Given the description of an element on the screen output the (x, y) to click on. 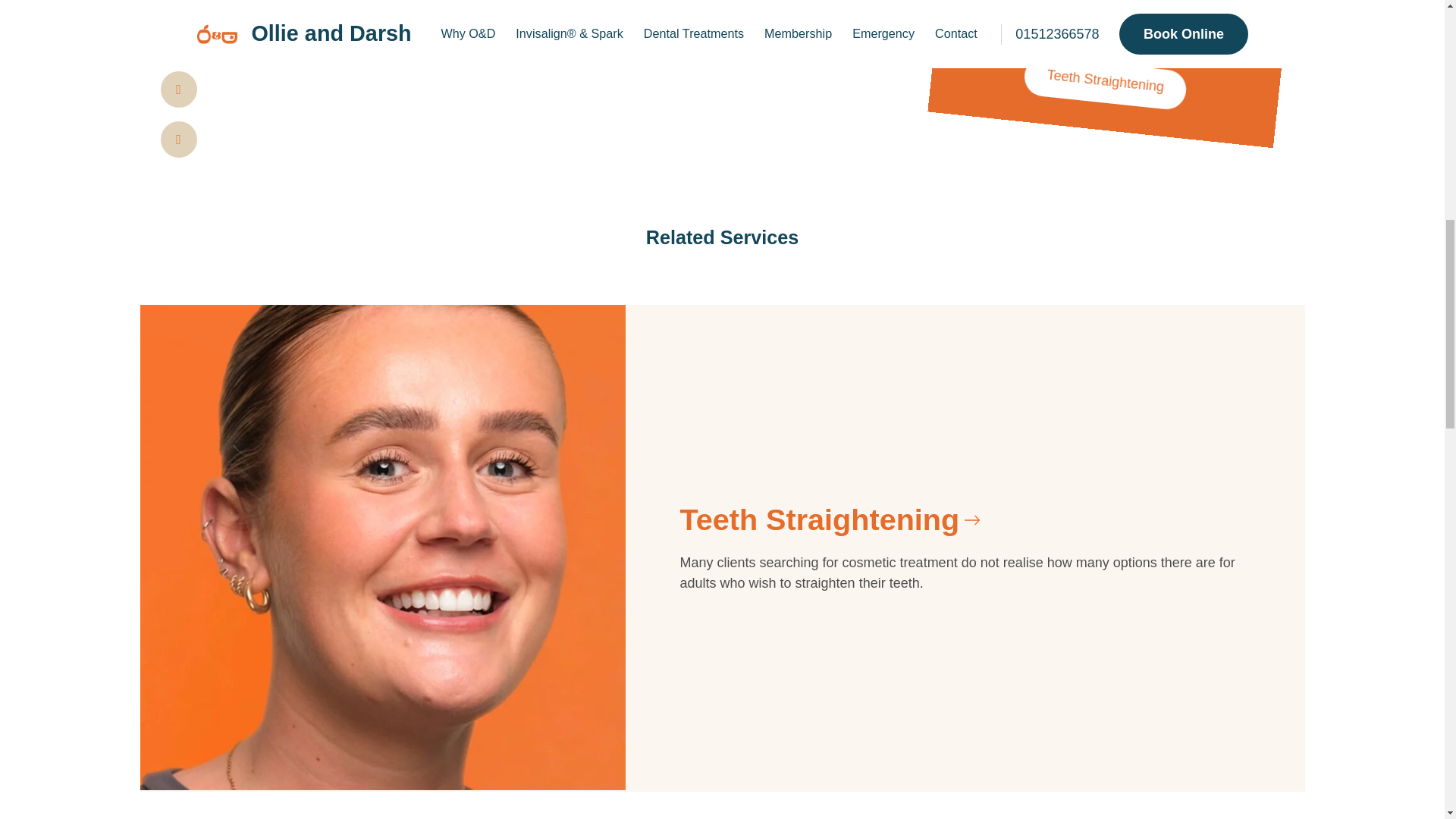
Share by Email (178, 139)
Share on Pintrest (178, 89)
Share on Linkedin (178, 39)
Share on Twitter (178, 3)
